Given the description of an element on the screen output the (x, y) to click on. 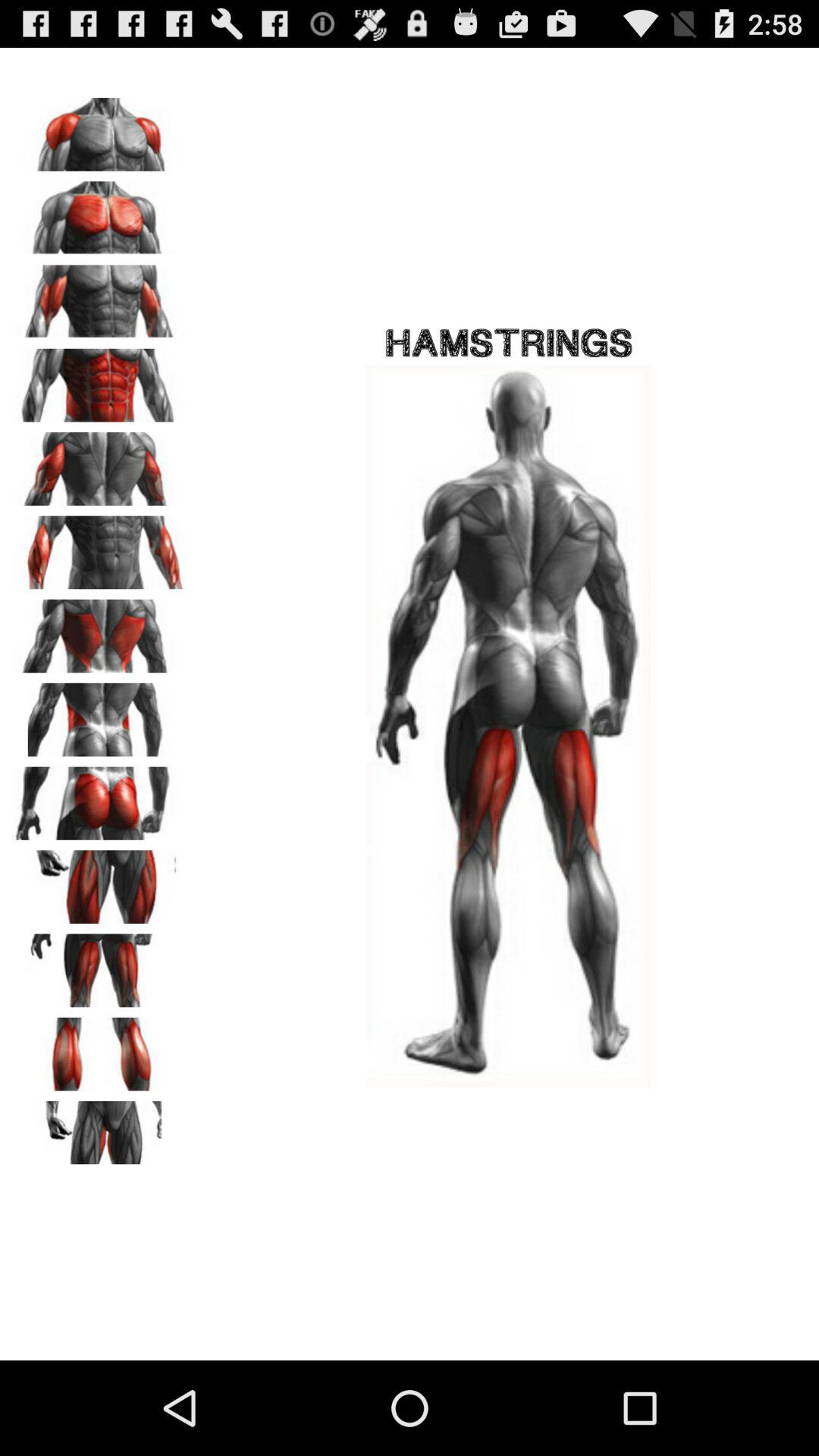
select upper inner thigh excercises (99, 1132)
